Given the description of an element on the screen output the (x, y) to click on. 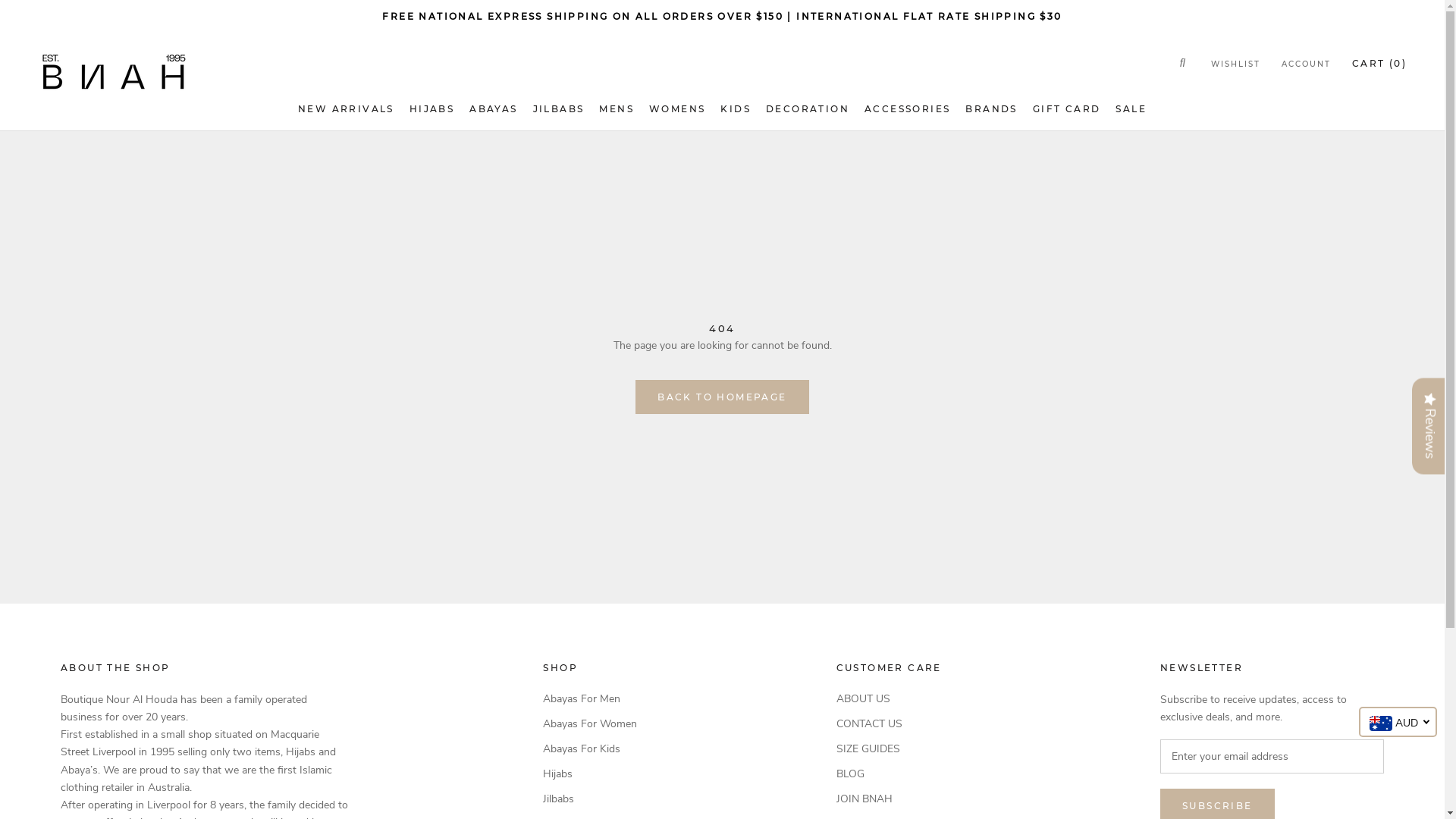
Hijabs Element type: text (591, 773)
Abayas For Kids Element type: text (591, 748)
BLOG Element type: text (901, 773)
ABOUT US Element type: text (901, 698)
ABAYAS Element type: text (493, 108)
GIFT CARD
GIFT CARD Element type: text (1066, 108)
Jilbabs Element type: text (591, 798)
WOMENS Element type: text (677, 108)
CART (0) Element type: text (1379, 63)
CONTACT US Element type: text (901, 723)
SIZE GUIDES Element type: text (901, 748)
ACCESSORIES Element type: text (907, 108)
ACCOUNT Element type: text (1305, 64)
BRANDS Element type: text (990, 108)
HIJABS Element type: text (431, 108)
MENS Element type: text (616, 108)
Abayas For Women Element type: text (591, 723)
JILBABS Element type: text (558, 108)
WISHLIST Element type: text (1235, 64)
KIDS Element type: text (735, 108)
Abayas For Men Element type: text (591, 698)
BACK TO HOMEPAGE Element type: text (721, 396)
SALE
SALE Element type: text (1130, 108)
DECORATION Element type: text (807, 108)
JOIN BNAH Element type: text (901, 798)
NEW ARRIVALS
NEW ARRIVALS Element type: text (346, 108)
